Given the description of an element on the screen output the (x, y) to click on. 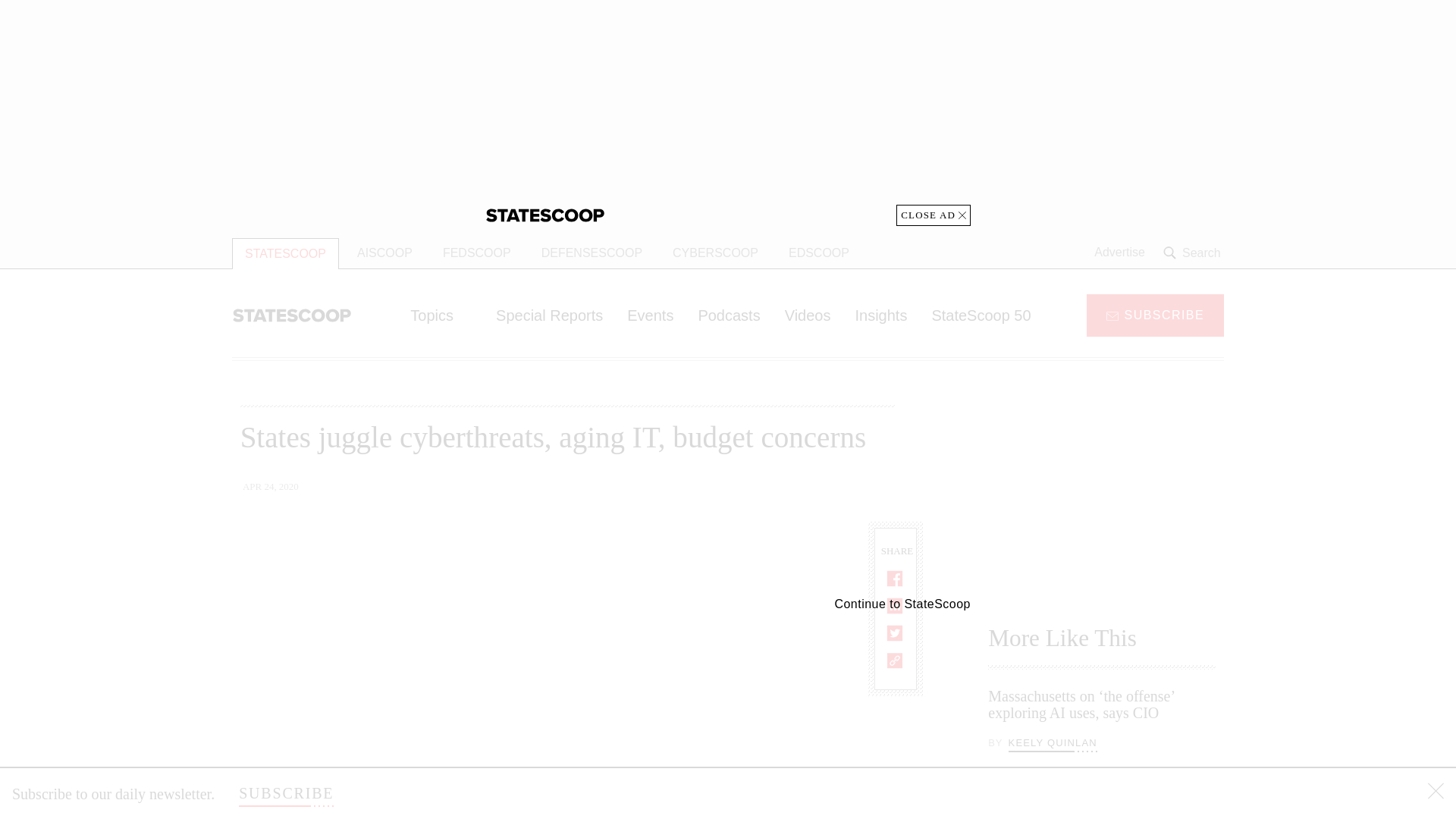
SUBSCRIBE (1155, 314)
Events (649, 315)
FEDSCOOP (476, 253)
AISCOOP (385, 253)
Advertise (1119, 252)
Podcasts (728, 315)
Search (1193, 252)
EDSCOOP (818, 253)
Topics (440, 315)
SUBSCRIBE (285, 793)
DEFENSESCOOP (591, 253)
Insights (880, 315)
StateScoop 50 (980, 315)
